Given the description of an element on the screen output the (x, y) to click on. 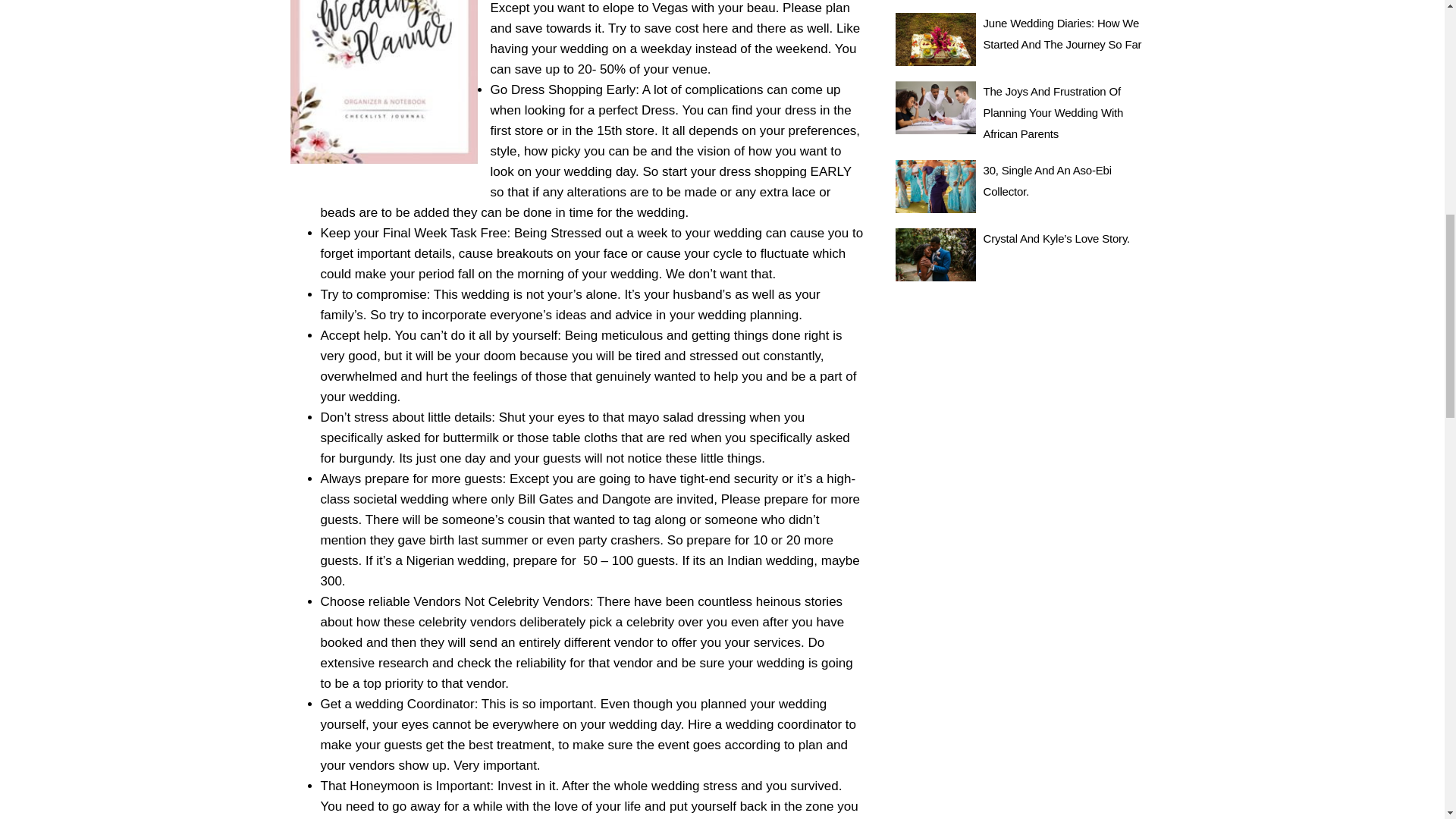
30, Single And An Aso-Ebi Collector. (1048, 180)
June Wedding Diaries: How We Started And The Journey So Far (1062, 33)
